Given the description of an element on the screen output the (x, y) to click on. 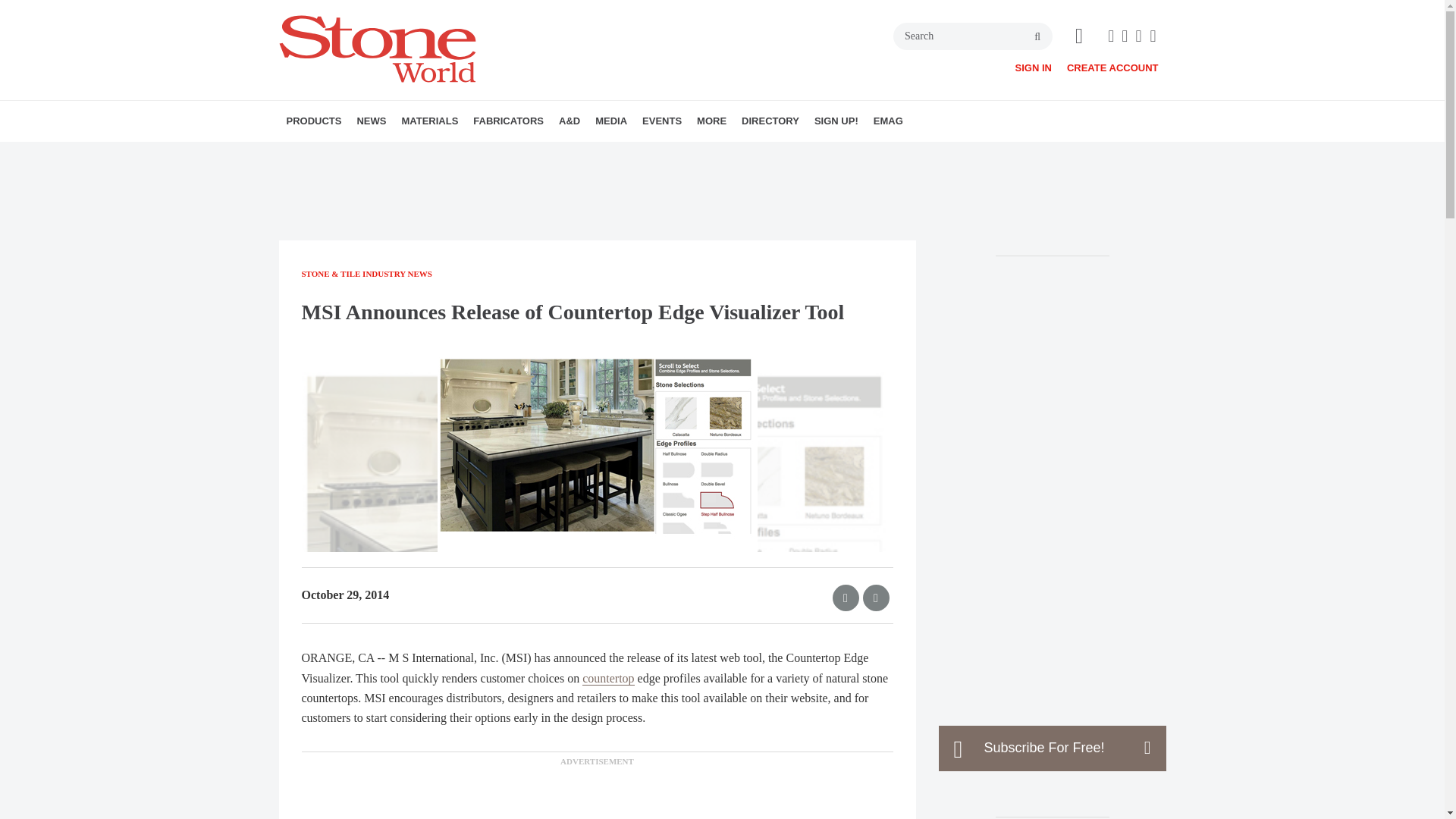
TILE (501, 154)
MACHINERY (373, 154)
Search (972, 35)
Search (972, 35)
DIGITAL TECHNOLOGY (380, 154)
VIDEOS (682, 154)
FABRICATOR CASE STUDIES (567, 154)
NEWS (371, 120)
EBOOK (695, 154)
PODCASTS (689, 154)
CREATE ACCOUNT (1112, 67)
MATERIALS (429, 120)
search (1037, 37)
RESIDENTIAL (679, 154)
INTERIOR DESIGN (659, 154)
